Given the description of an element on the screen output the (x, y) to click on. 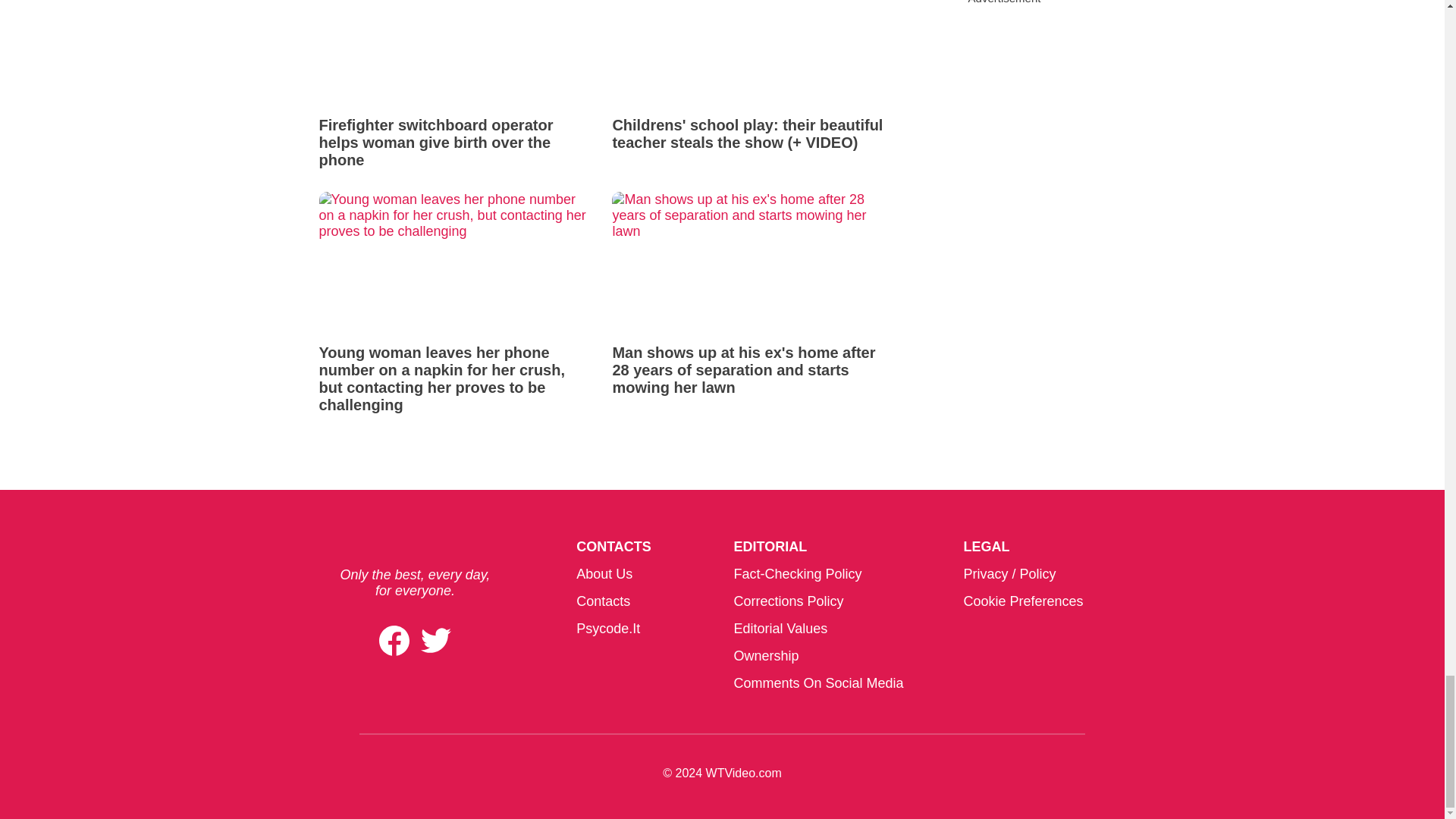
Cookie Preferences (1022, 601)
Psycode.It (608, 628)
About Us (603, 573)
Fact-Checking Policy (797, 573)
Editorial Values (780, 628)
Contacts (603, 601)
Ownership (765, 655)
